Given the description of an element on the screen output the (x, y) to click on. 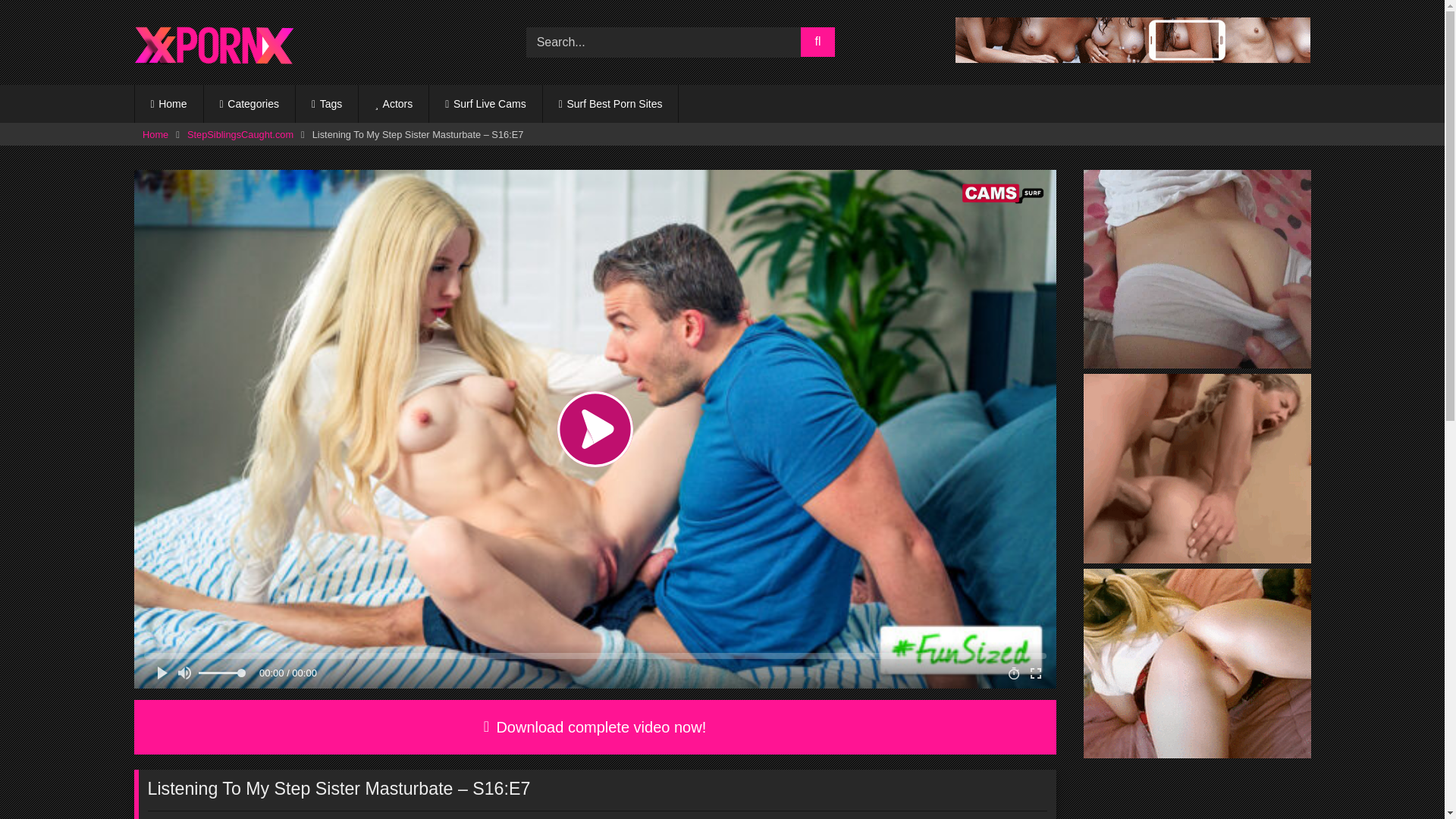
About (461, 818)
Categories (249, 103)
Actors (393, 103)
Tags (326, 103)
Home (155, 134)
Search... (662, 42)
StepSiblingsCaught.com (240, 134)
Surf Best Porn Sites (610, 103)
Surf Live Cams (485, 103)
Download complete video now! (594, 727)
Share (556, 818)
Home (169, 103)
xxPornx.com (212, 41)
